Given the description of an element on the screen output the (x, y) to click on. 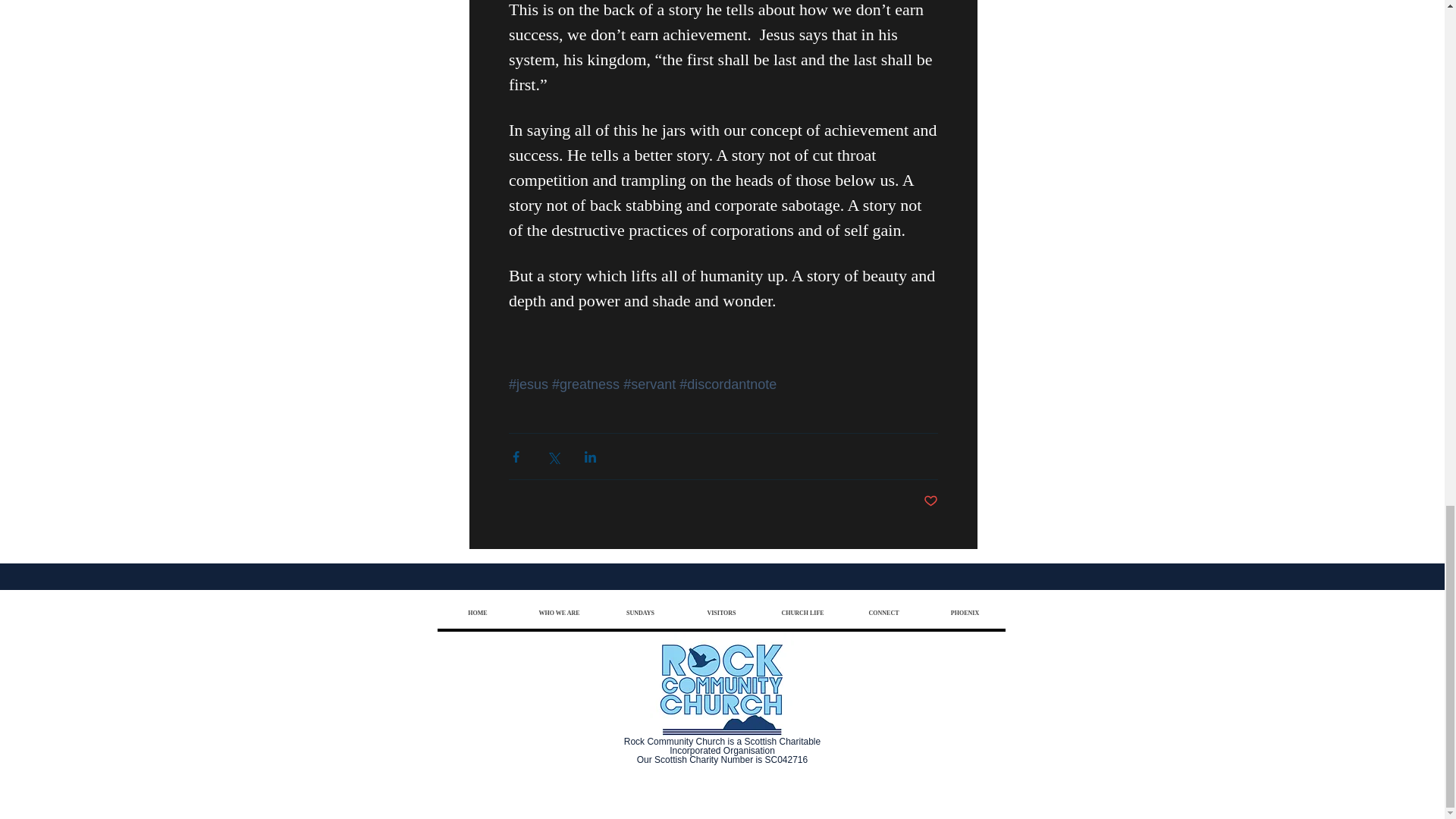
WHO WE ARE (558, 612)
VISITORS (721, 612)
CONNECT (883, 612)
HOME (477, 612)
Post not marked as liked (930, 501)
PHOENIX (963, 612)
SUNDAYS (638, 612)
CHURCH LIFE (802, 612)
